Given the description of an element on the screen output the (x, y) to click on. 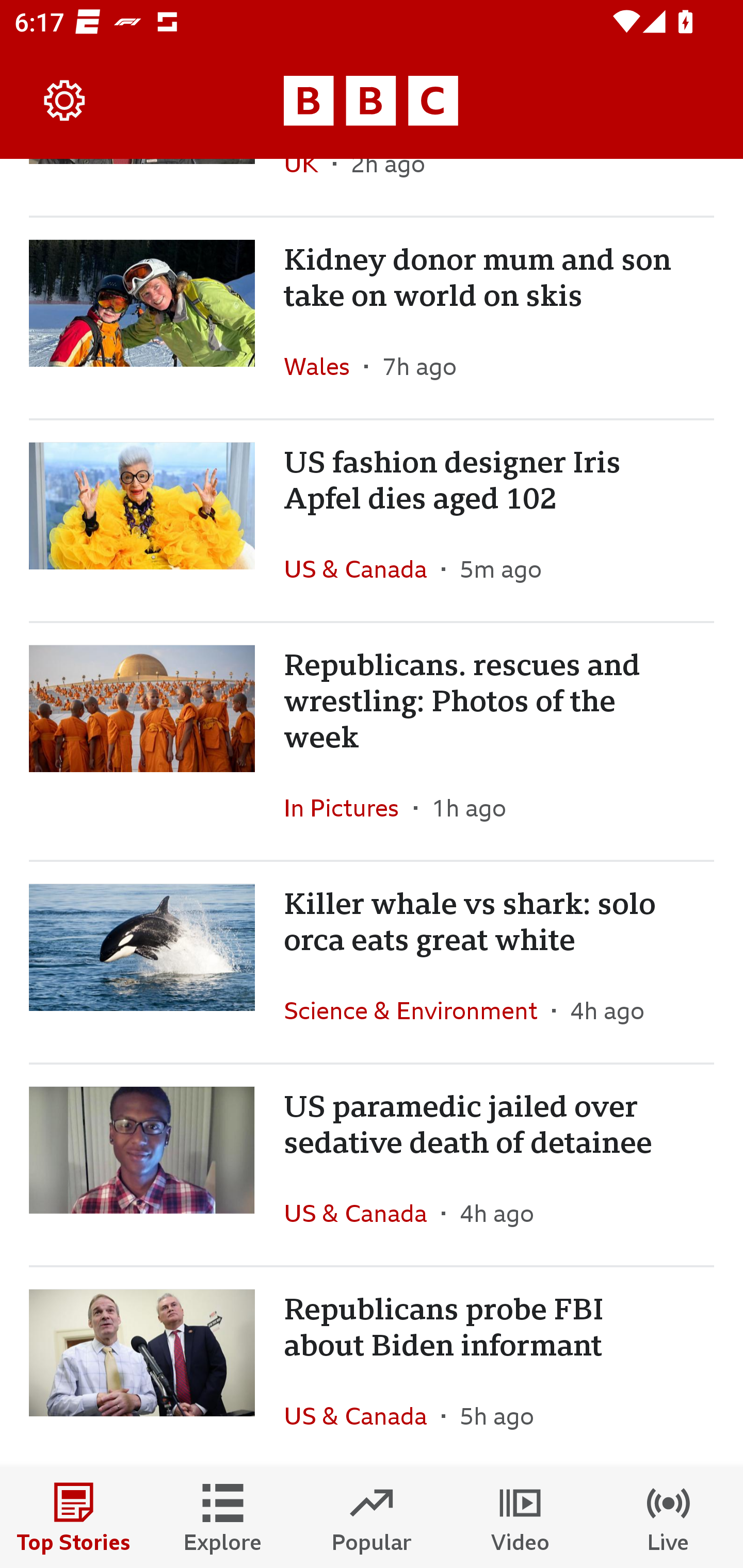
Settings (64, 100)
Wales In the section Wales (323, 365)
US & Canada In the section US & Canada (362, 568)
In Pictures In the section In Pictures (348, 807)
US & Canada In the section US & Canada (362, 1212)
US & Canada In the section US & Canada (362, 1415)
Explore (222, 1517)
Popular (371, 1517)
Video (519, 1517)
Live (668, 1517)
